Given the description of an element on the screen output the (x, y) to click on. 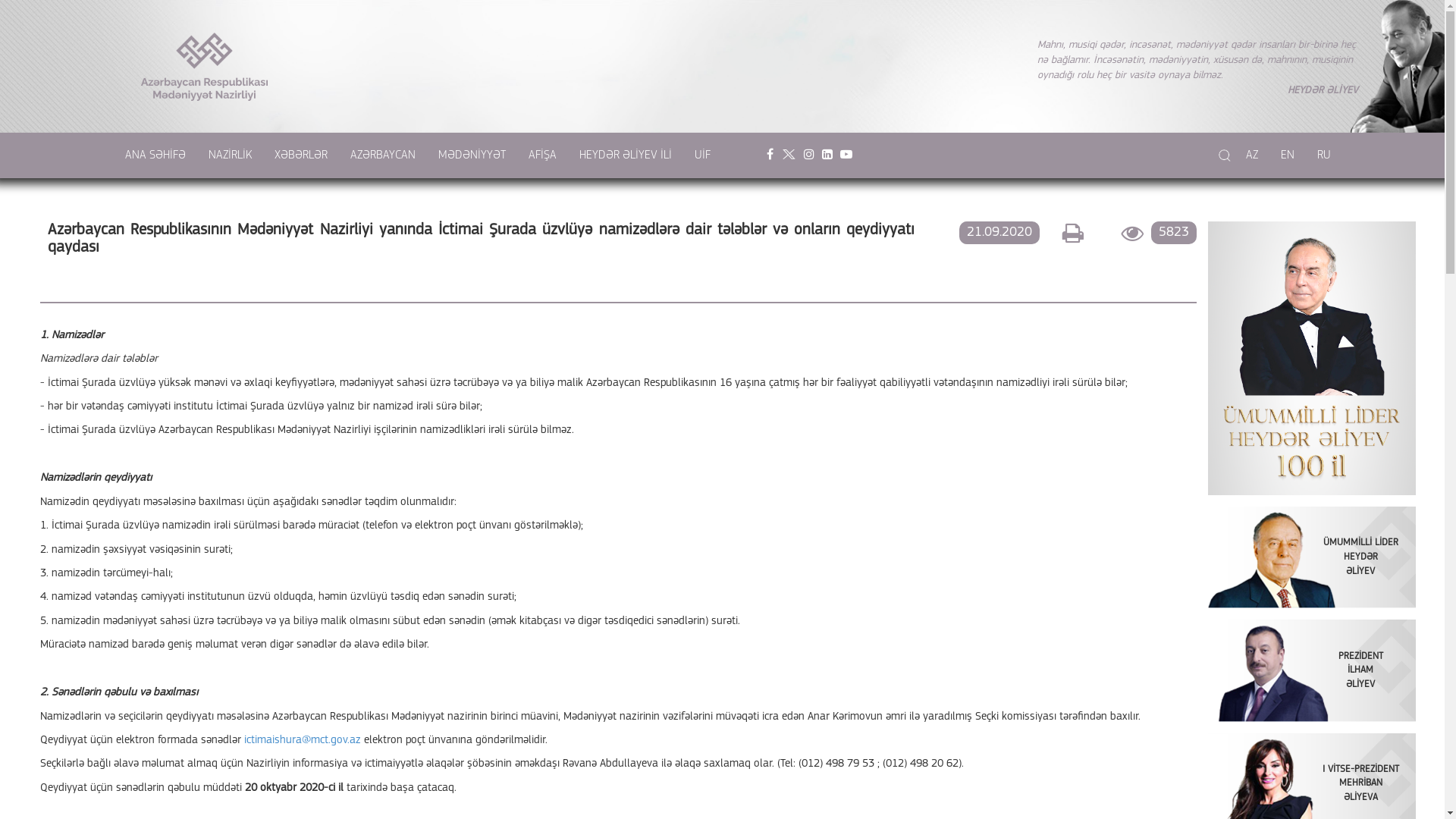
EN Element type: text (1287, 155)
AZ Element type: text (1251, 155)
RU Element type: text (1323, 155)
ictimaishura@mct.gov.az Element type: text (302, 740)
